Given the description of an element on the screen output the (x, y) to click on. 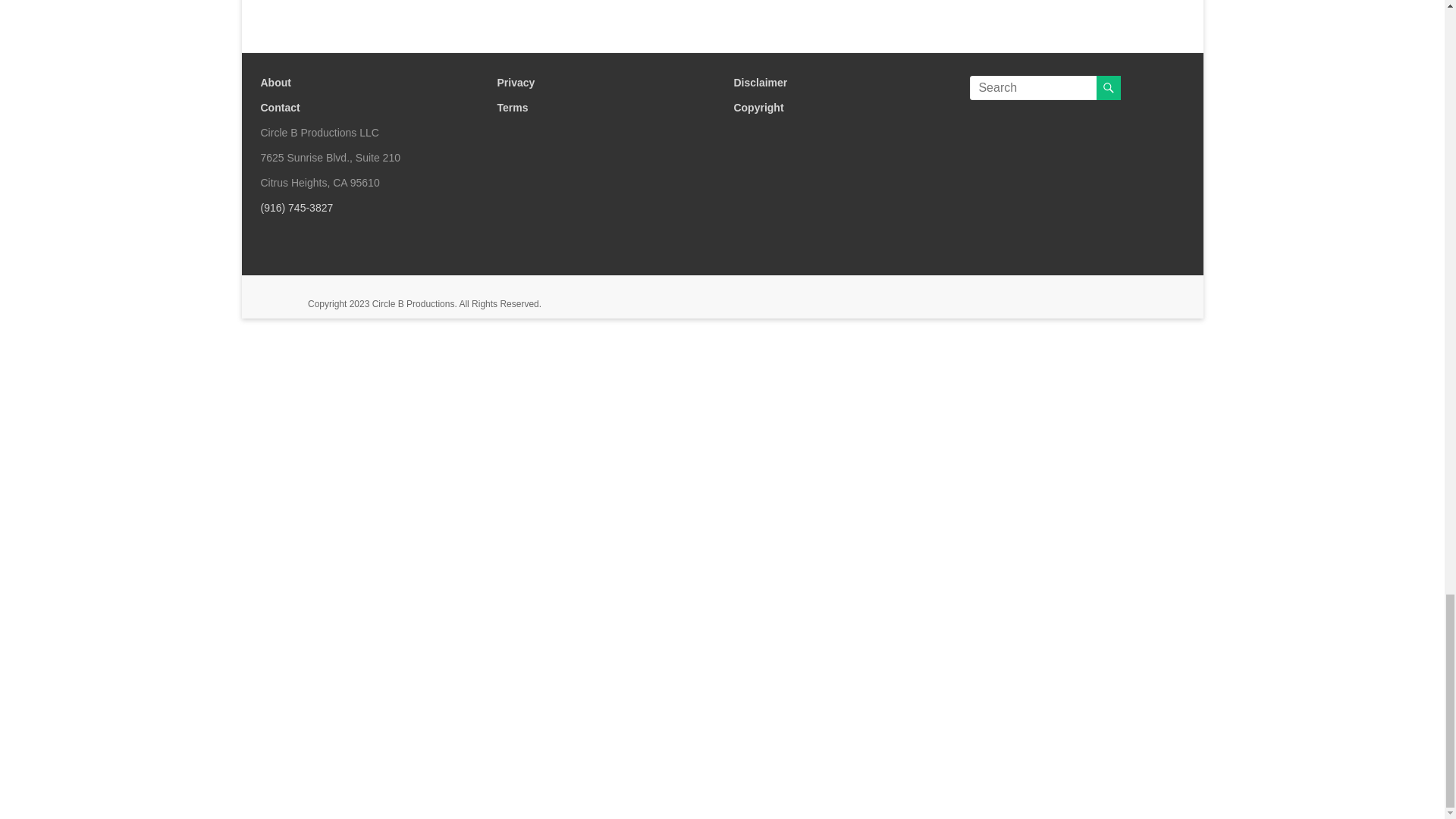
About (275, 82)
Terms (511, 107)
Privacy (515, 82)
Copyright (758, 107)
Contact (279, 107)
Disclaimer (760, 82)
